Given the description of an element on the screen output the (x, y) to click on. 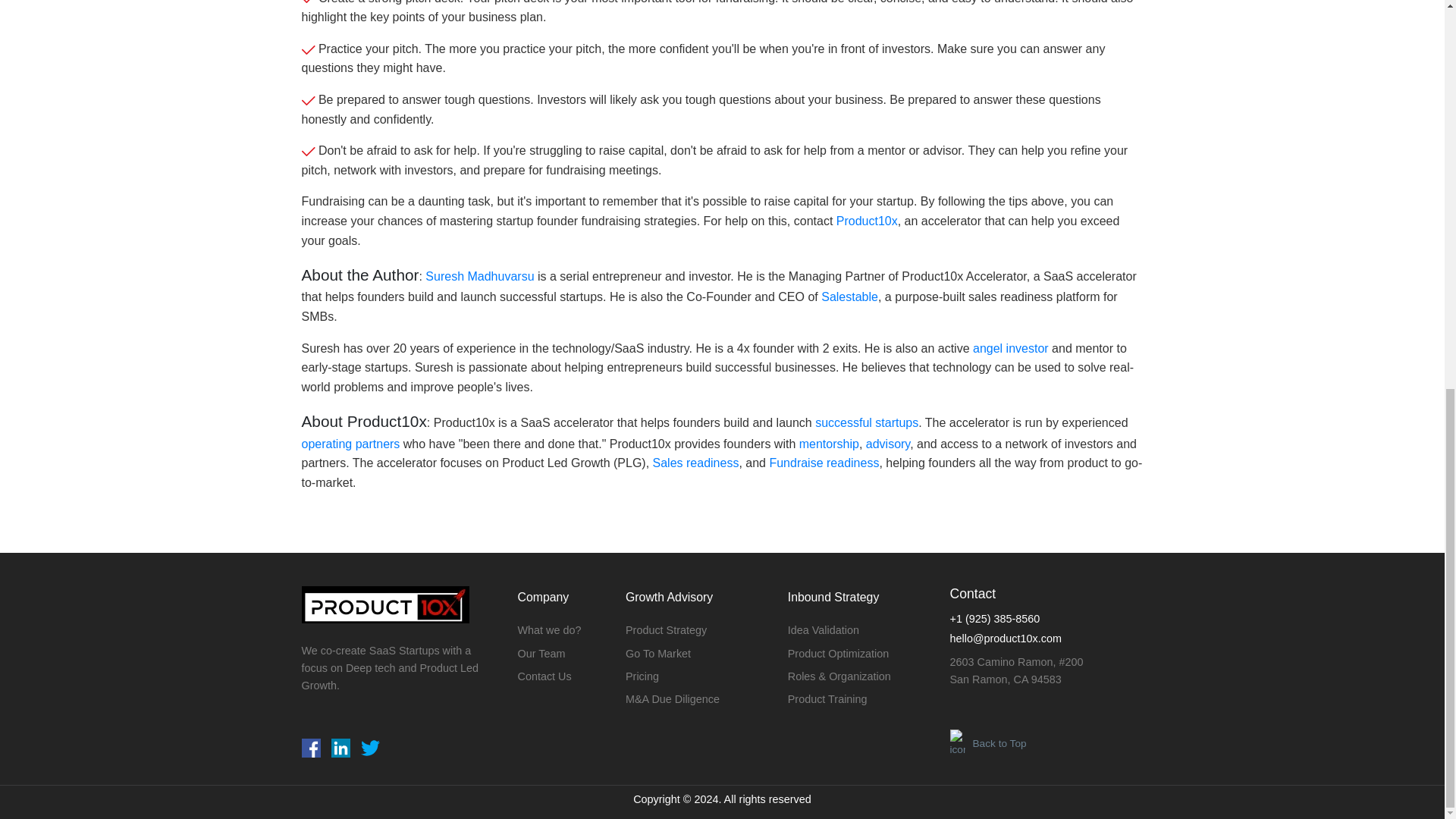
Salestable (849, 296)
Product10x (866, 220)
mentorship (829, 443)
Suresh Madhuvarsu (479, 276)
angel investor (1010, 348)
successful startups (866, 422)
Back to Top (1045, 743)
operating partners (350, 443)
